Given the description of an element on the screen output the (x, y) to click on. 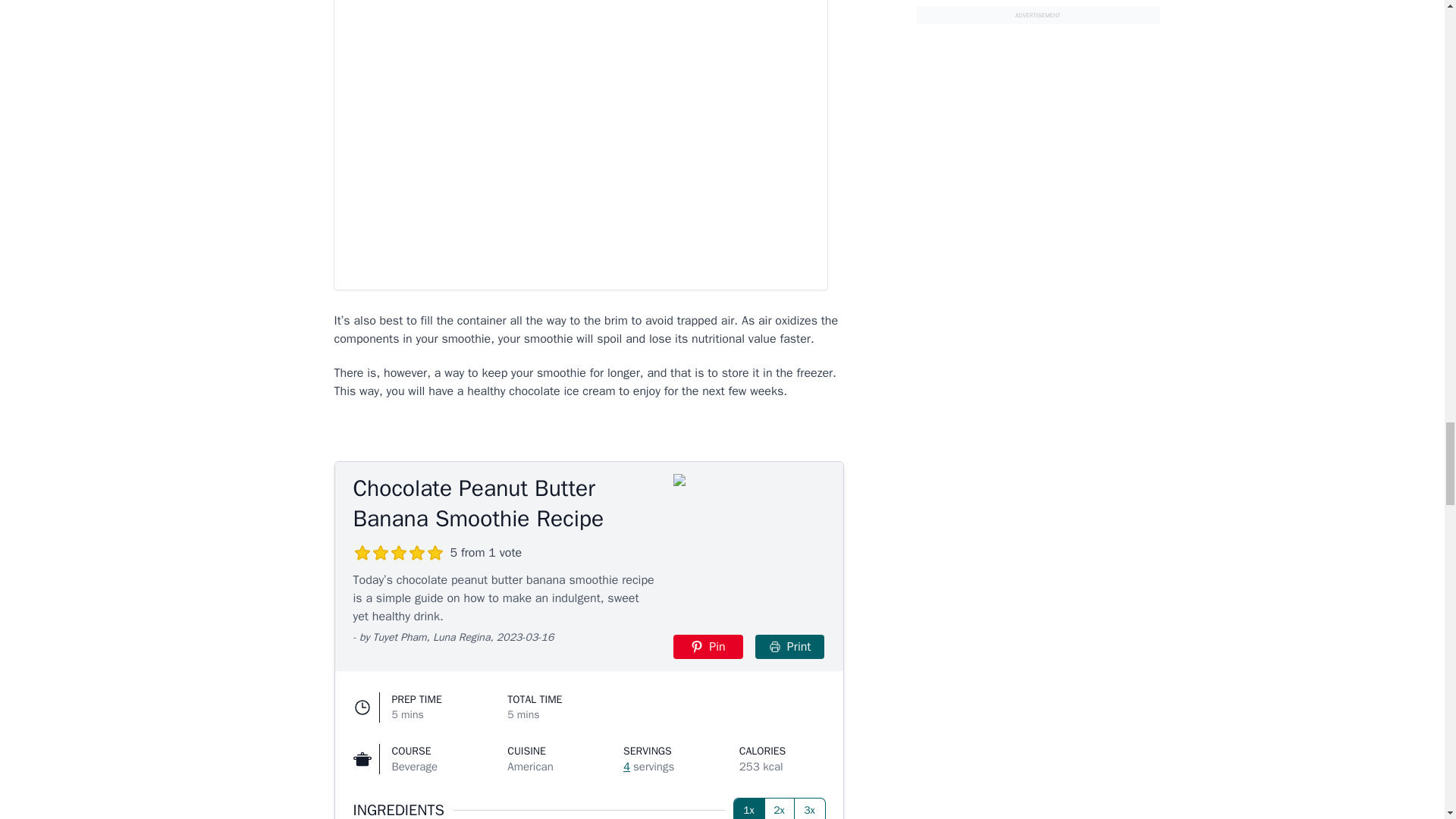
2x (779, 808)
Print (790, 646)
1x (748, 808)
5 from 1 vote (437, 552)
Pin (707, 646)
3x (809, 808)
